Given the description of an element on the screen output the (x, y) to click on. 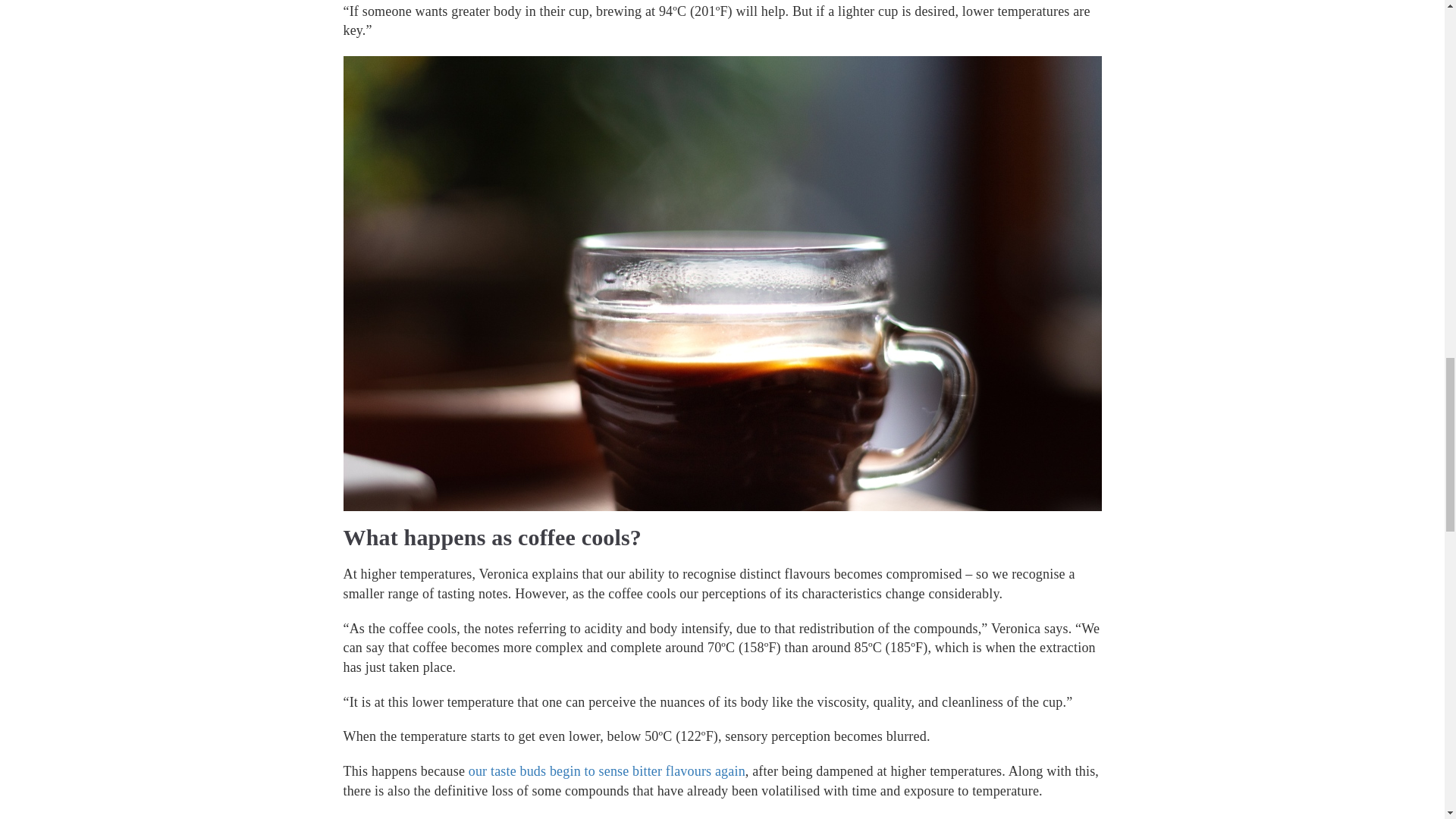
our taste buds begin to sense bitter flavours again (606, 770)
